Given the description of an element on the screen output the (x, y) to click on. 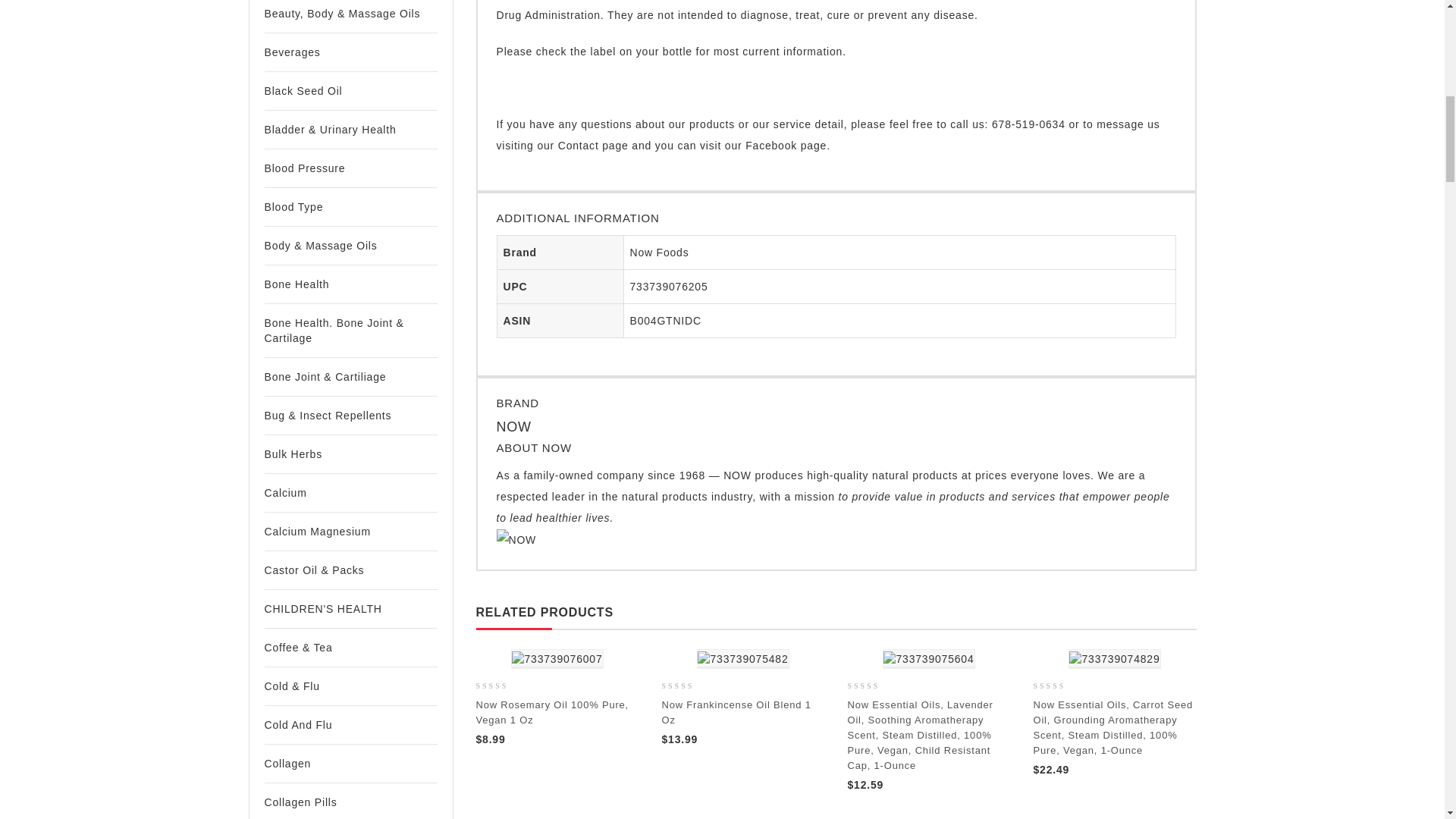
Not yet rated (500, 686)
Not yet rated (685, 686)
Not yet rated (871, 686)
NOW (515, 539)
Not yet rated (1056, 686)
